Given the description of an element on the screen output the (x, y) to click on. 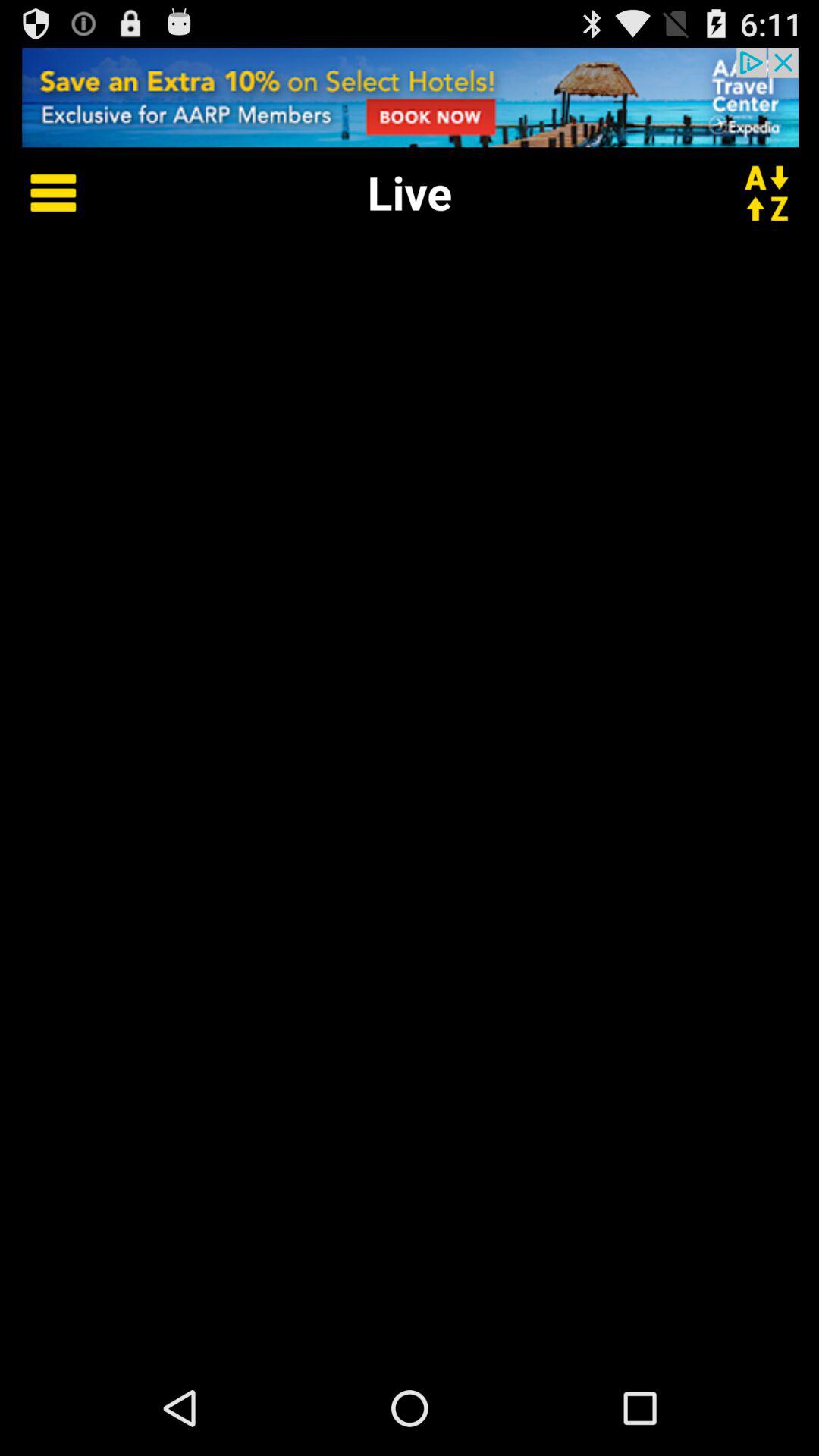
go to options (42, 192)
